Given the description of an element on the screen output the (x, y) to click on. 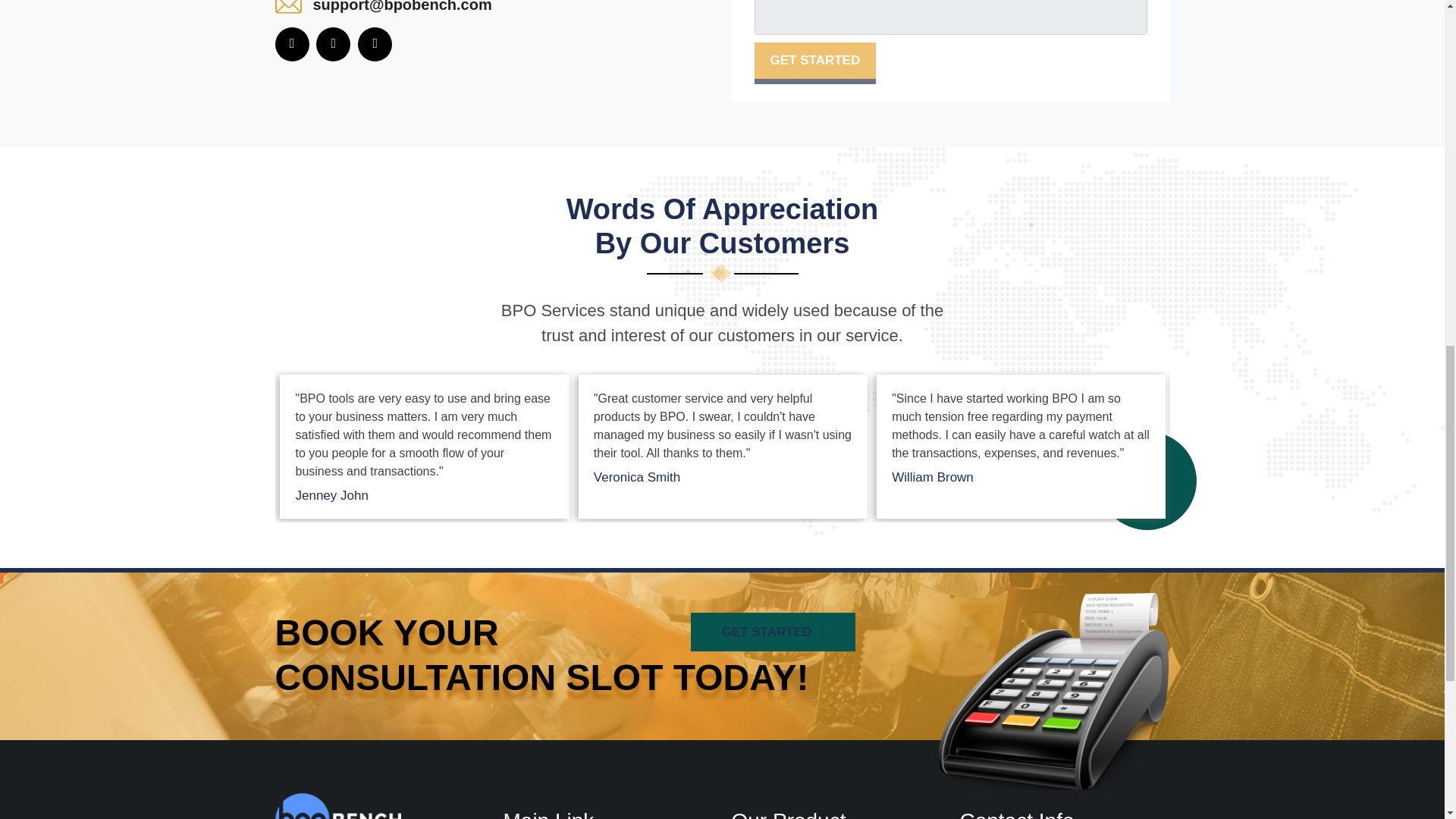
GET STARTED (773, 631)
GET STARTED (815, 60)
